Given the description of an element on the screen output the (x, y) to click on. 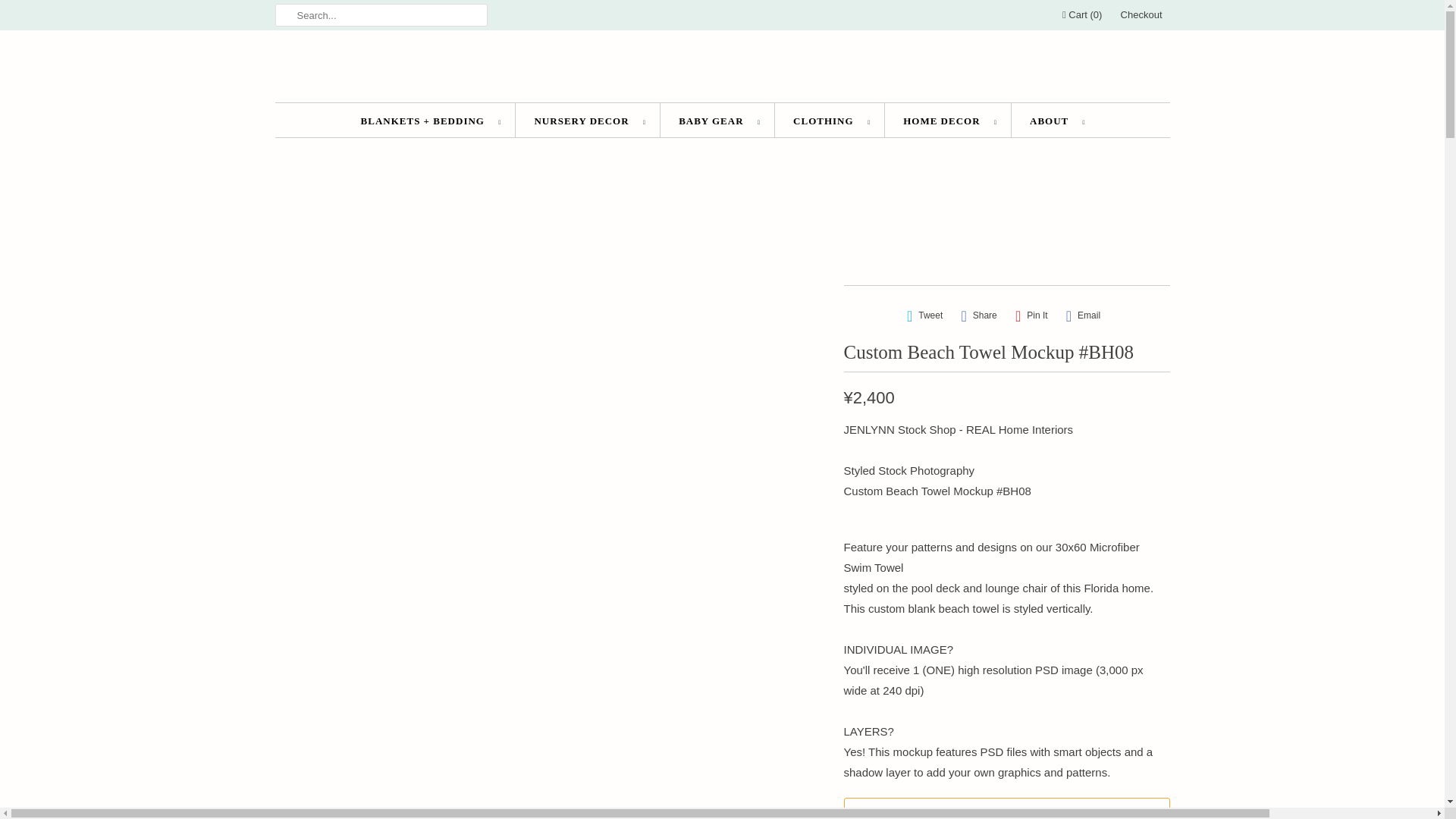
Checkout (1141, 15)
Share this on Twitter (924, 315)
Share this on Facebook (978, 315)
Email this to a friend (1083, 315)
Share this on Pinterest (1031, 315)
JENLYNN Stock Shop (722, 69)
